Given the description of an element on the screen output the (x, y) to click on. 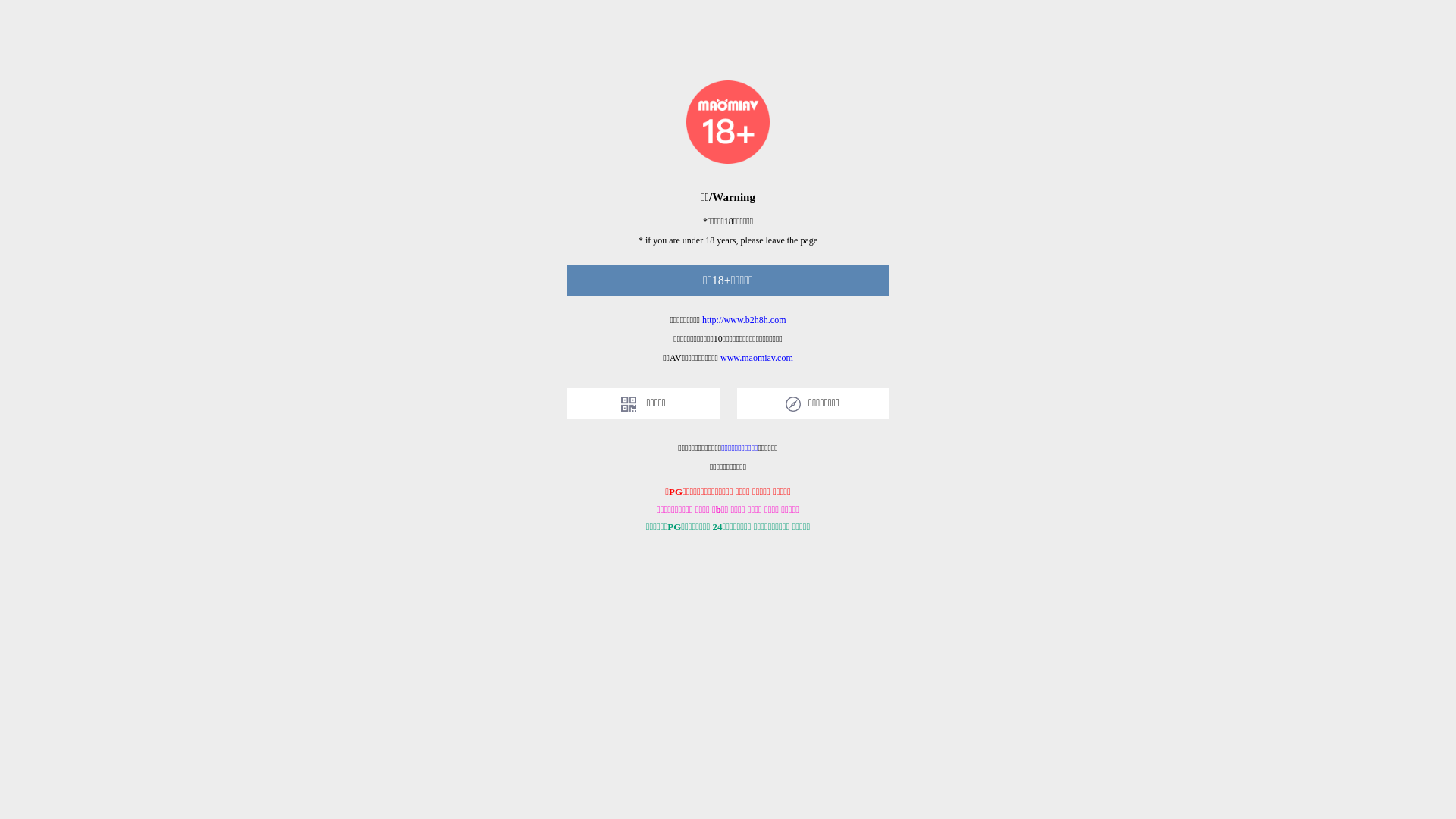
http://www.b2h8h.com Element type: text (744, 319)
www.maomiav.com Element type: text (756, 357)
